Given the description of an element on the screen output the (x, y) to click on. 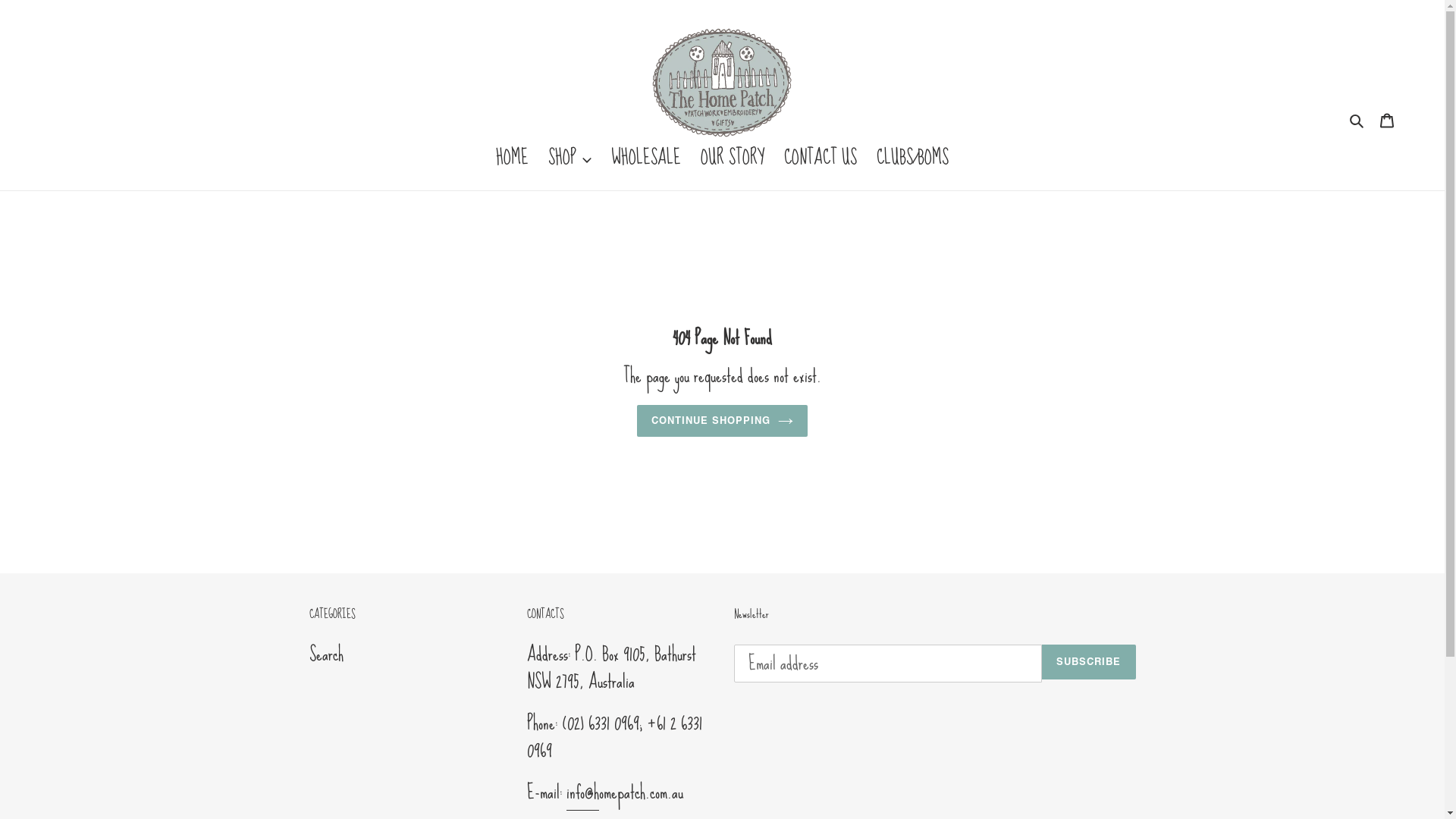
HOME Element type: text (512, 158)
Search Element type: text (1357, 117)
CONTACT US Element type: text (820, 158)
CLUBS/BOMS Element type: text (912, 158)
CONTINUE SHOPPING Element type: text (722, 420)
SUBSCRIBE Element type: text (1088, 661)
SHOP Element type: text (569, 158)
WHOLESALE Element type: text (645, 158)
Cart Element type: text (1386, 118)
Search Element type: text (326, 653)
info@h Element type: text (582, 792)
OUR STORY Element type: text (732, 158)
